Given the description of an element on the screen output the (x, y) to click on. 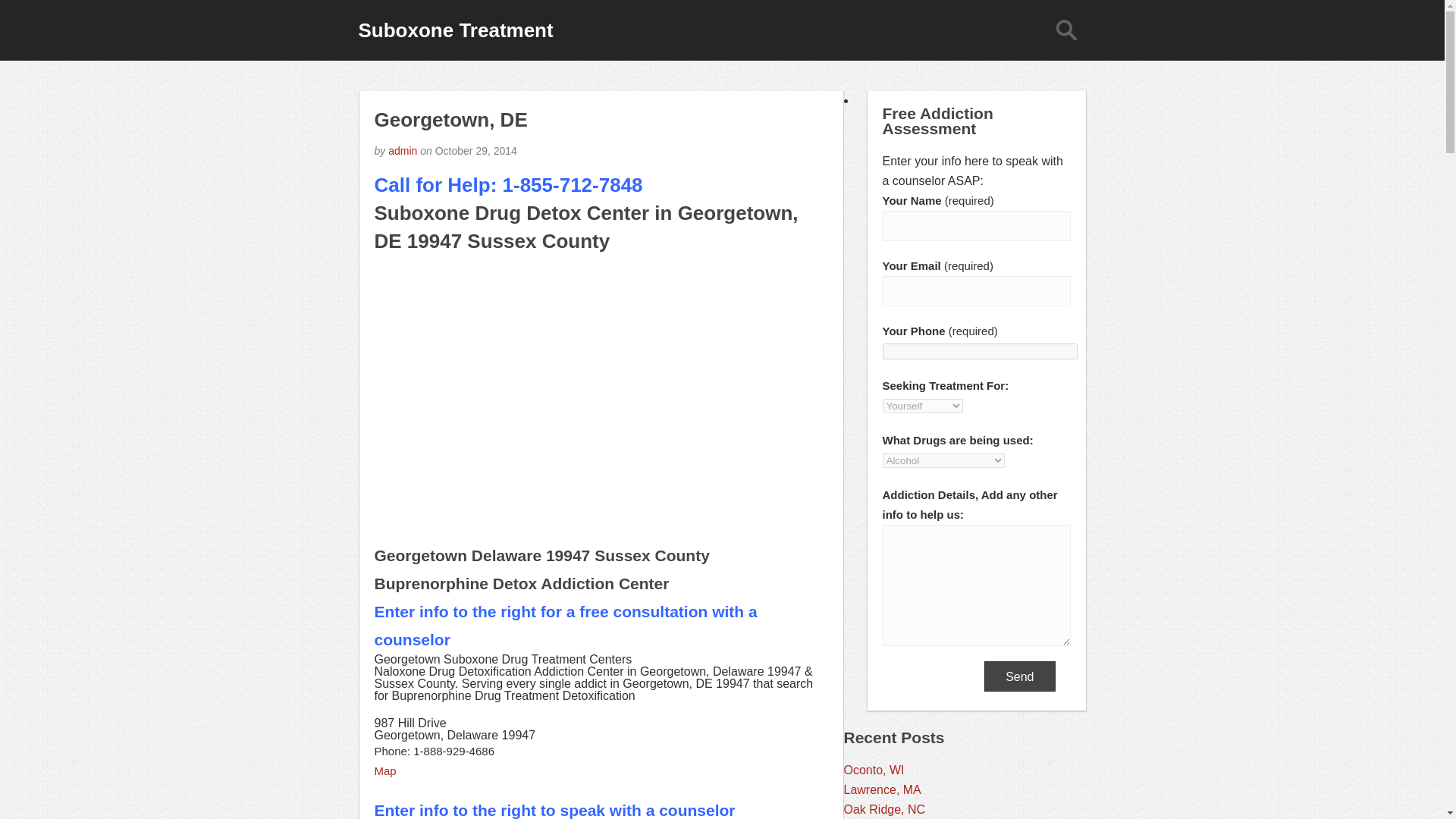
Search (1065, 30)
Send (1019, 675)
Map (385, 770)
Lawrence, MA (881, 789)
Search (1065, 30)
Oak Ridge, NC (883, 809)
Suboxone Treatment (455, 29)
Oconto, WI (873, 769)
Suboxone Treatment (455, 29)
Posts by admin (402, 150)
Send (1019, 675)
admin (402, 150)
